Given the description of an element on the screen output the (x, y) to click on. 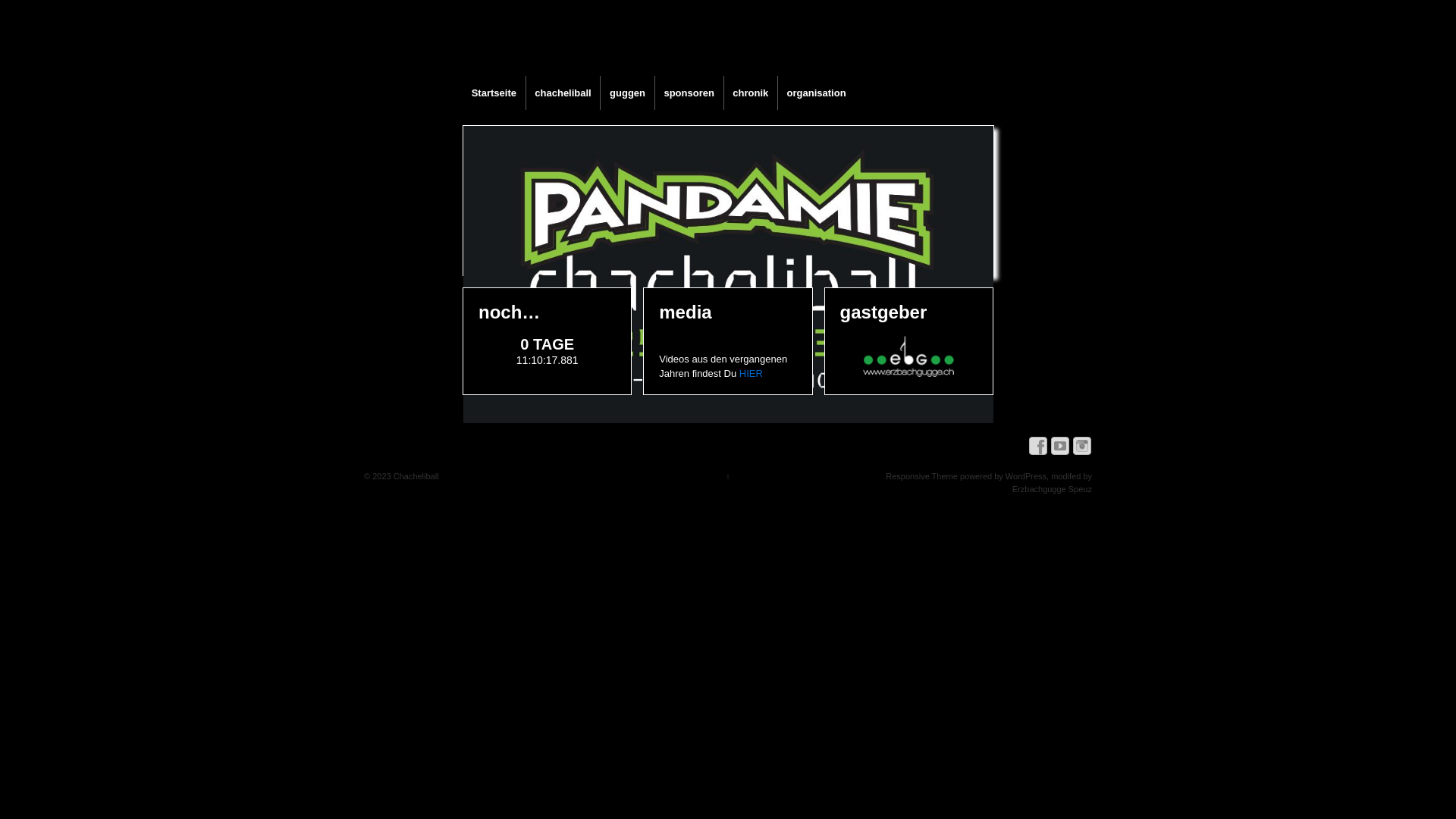
Startseite Element type: text (493, 92)
chacheliball Element type: text (562, 92)
sponsoren Element type: text (688, 92)
Chacheliball Element type: text (415, 475)
Responsive Theme Element type: text (921, 475)
chronik Element type: text (750, 92)
organisation Element type: text (815, 92)
WordPress, modifed by Erzbachgugge Speuz Element type: text (1048, 482)
HIER Element type: text (750, 373)
guggen Element type: text (626, 92)
